Given the description of an element on the screen output the (x, y) to click on. 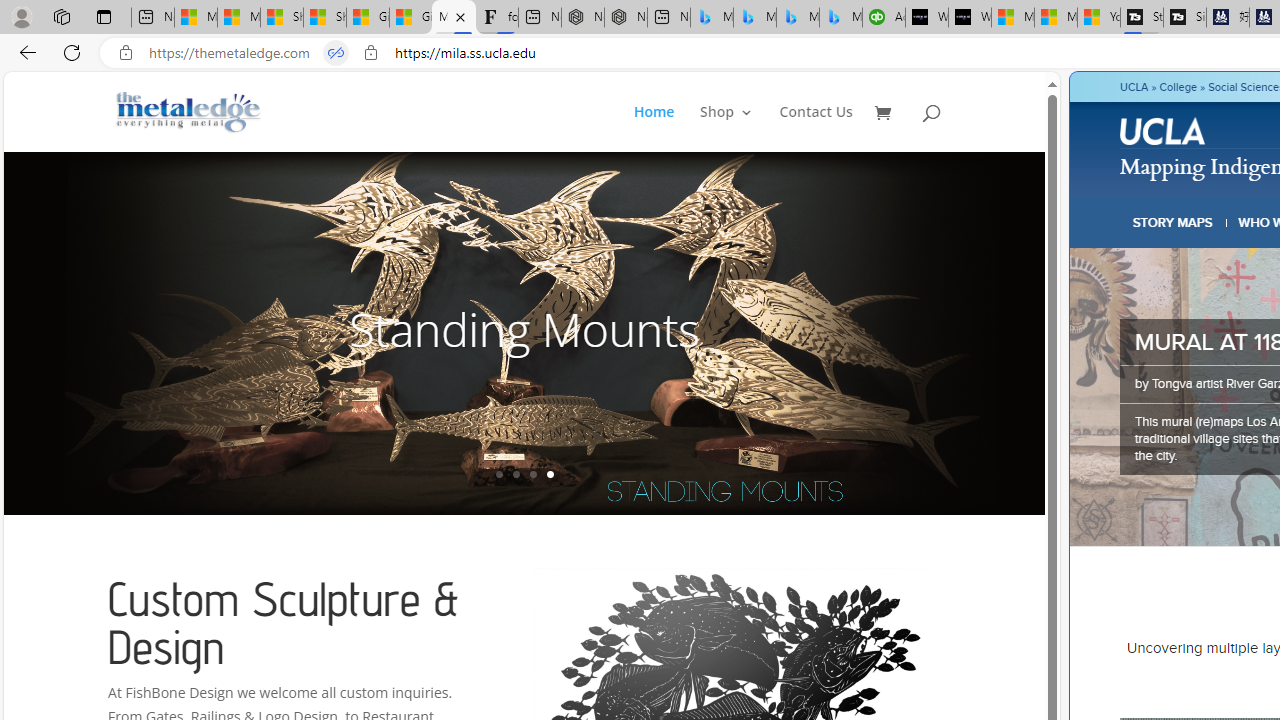
5 (1042, 332)
Shop3 (737, 128)
Streaming Coverage | T3 (1142, 17)
Contact Us (815, 128)
Nordace - #1 Japanese Best-Seller - Siena Smart Backpack (625, 17)
Microsoft Bing Travel - Stays in Bangkok, Bangkok, Thailand (754, 17)
1 (499, 474)
Shop 3 (726, 128)
